Given the description of an element on the screen output the (x, y) to click on. 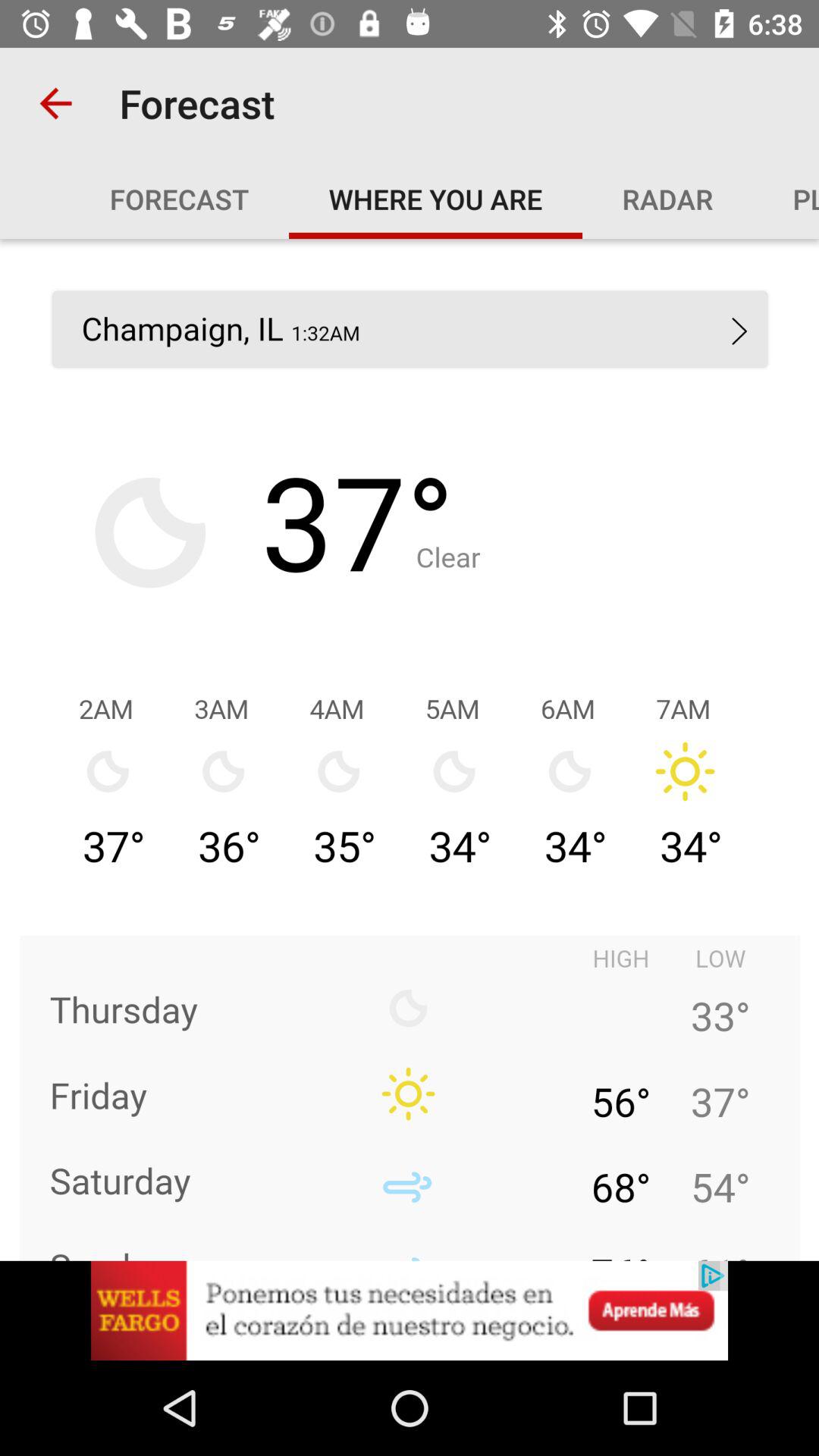
advertisement (409, 1310)
